Given the description of an element on the screen output the (x, y) to click on. 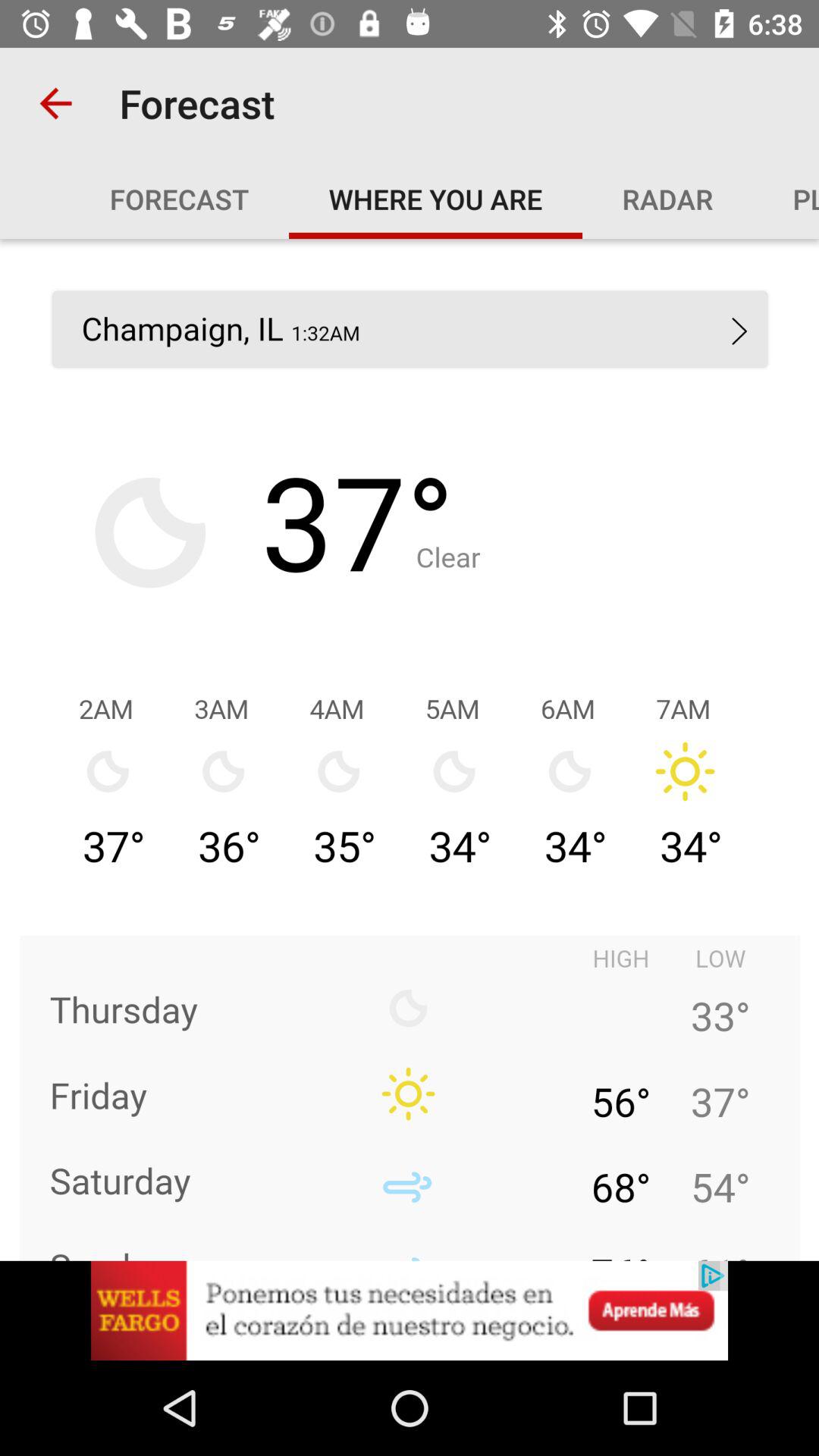
advertisement (409, 1310)
